Given the description of an element on the screen output the (x, y) to click on. 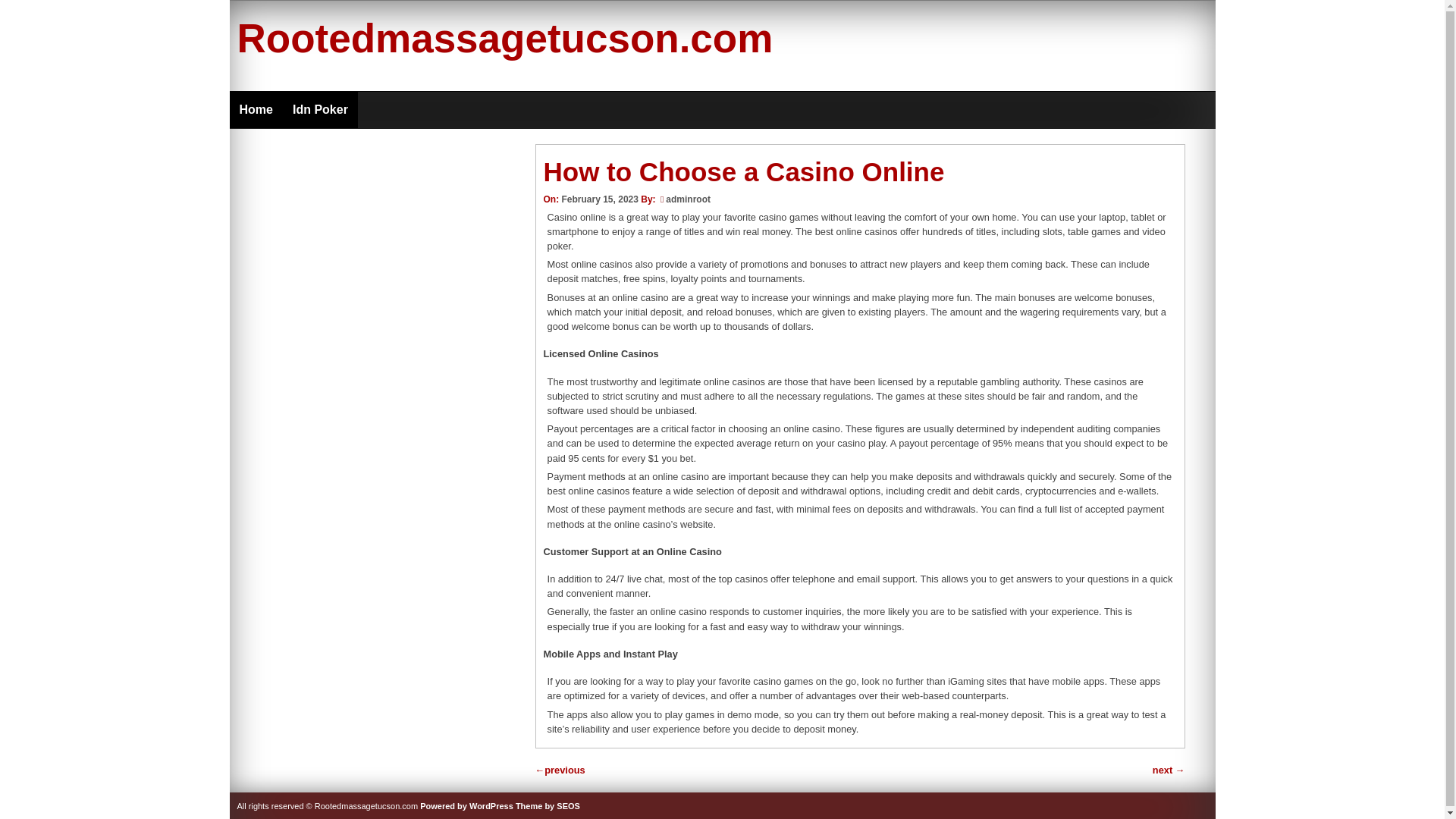
Rootedmassagetucson.com (504, 37)
Seos free wordpress themes (547, 805)
Home (255, 109)
Theme by SEOS (547, 805)
February 15, 2023 (598, 199)
Idn Poker (320, 109)
adminroot (687, 199)
Powered by WordPress (466, 805)
